Given the description of an element on the screen output the (x, y) to click on. 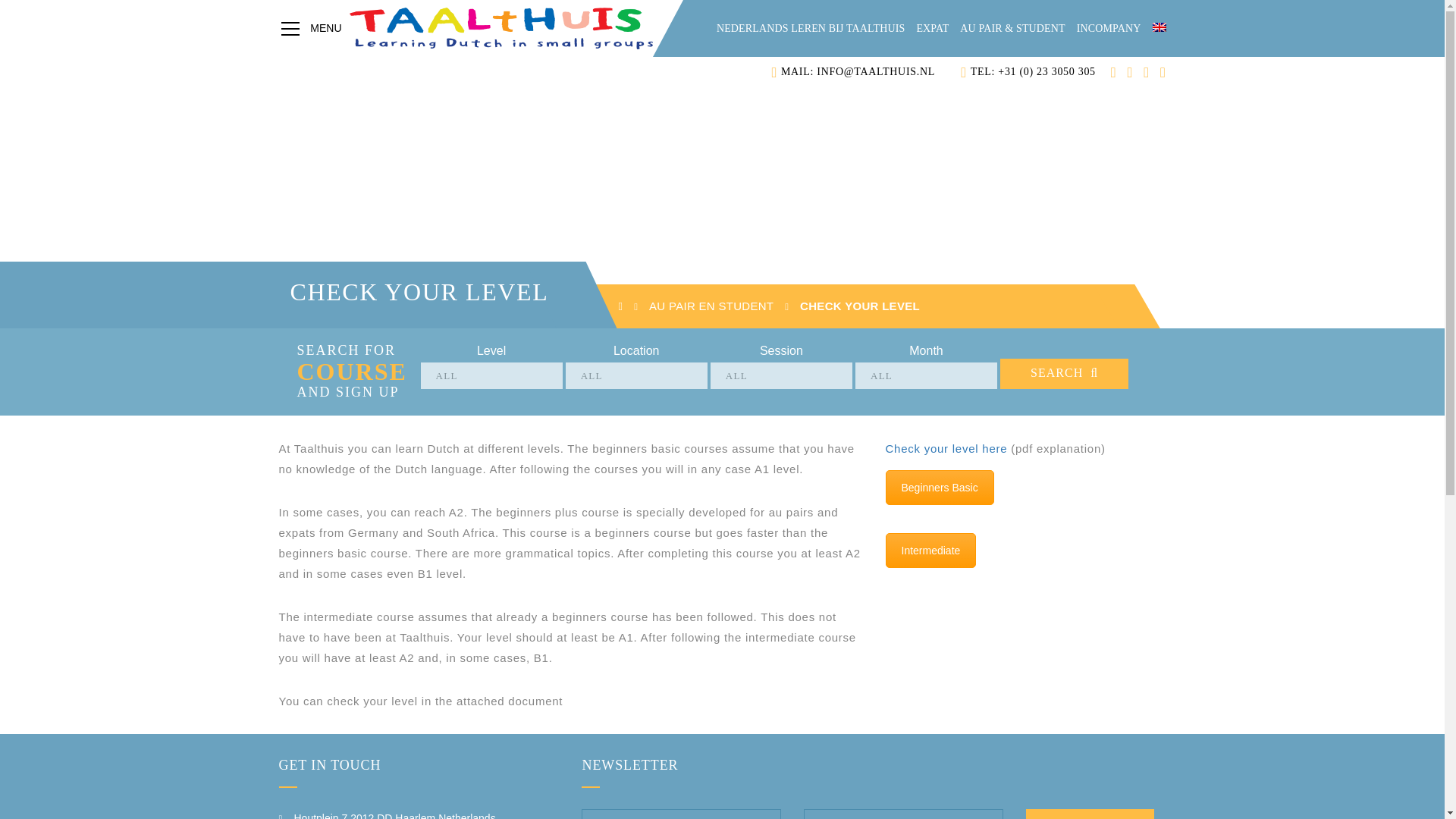
INCOMPANY (1109, 28)
NEDERLANDS LEREN BIJ TAALTHUIS (810, 28)
Au pair en Student (711, 305)
EXPAT (932, 28)
